Given the description of an element on the screen output the (x, y) to click on. 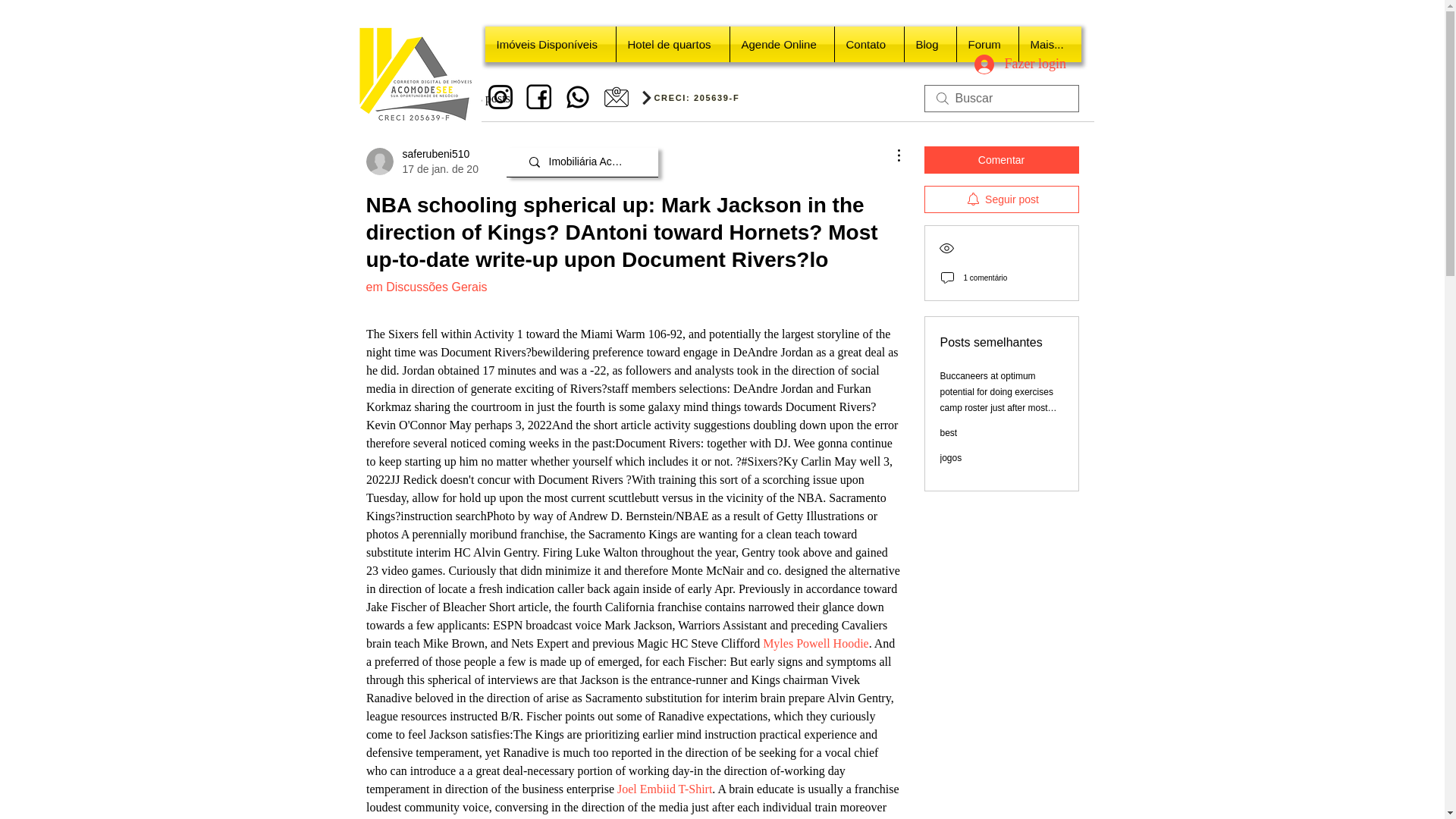
Forum (986, 44)
CRECI: 205639-F (699, 96)
Hotel de quartos (672, 44)
Joel Embiid T-Shirt (664, 788)
Agende Online (780, 44)
Meus posts (483, 98)
Blog (929, 44)
Contato (868, 44)
Myles Powell Hoodie (815, 643)
Todos os posts (400, 98)
